Given the description of an element on the screen output the (x, y) to click on. 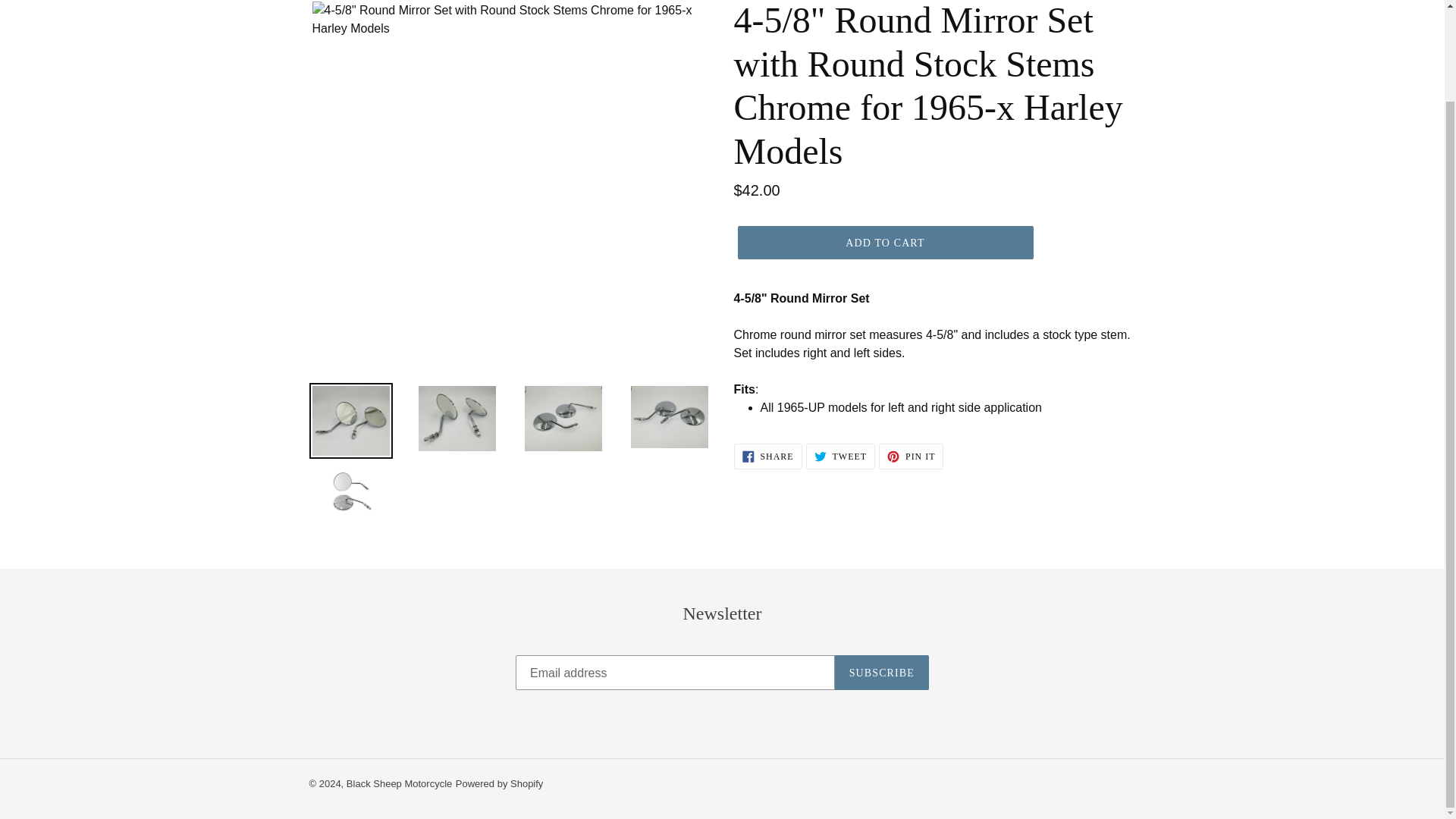
Black Sheep Motorcycle (840, 456)
Powered by Shopify (911, 456)
ADD TO CART (398, 783)
SUBSCRIBE (499, 783)
